Given the description of an element on the screen output the (x, y) to click on. 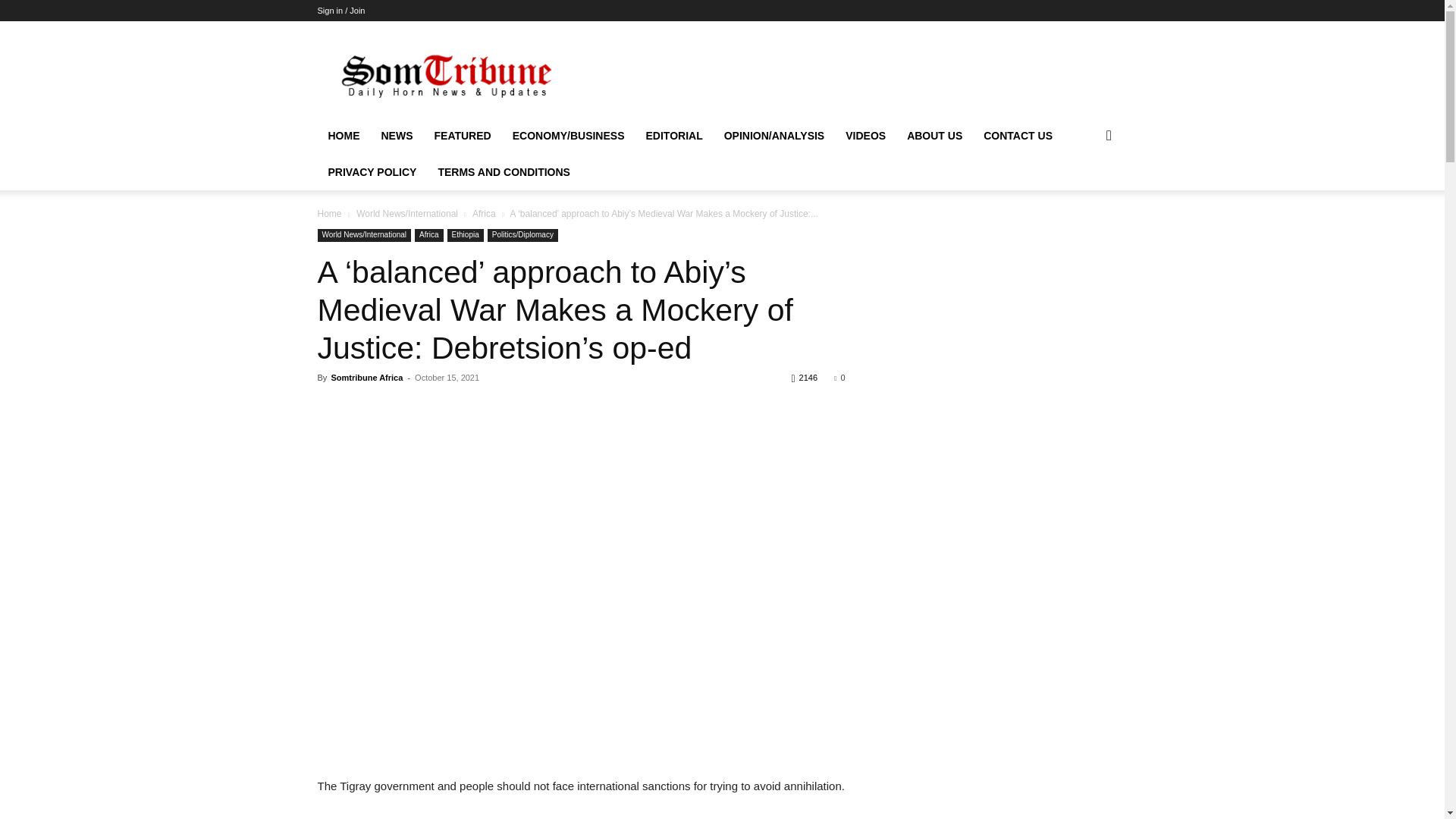
HOME (343, 135)
NEWS (396, 135)
